Given the description of an element on the screen output the (x, y) to click on. 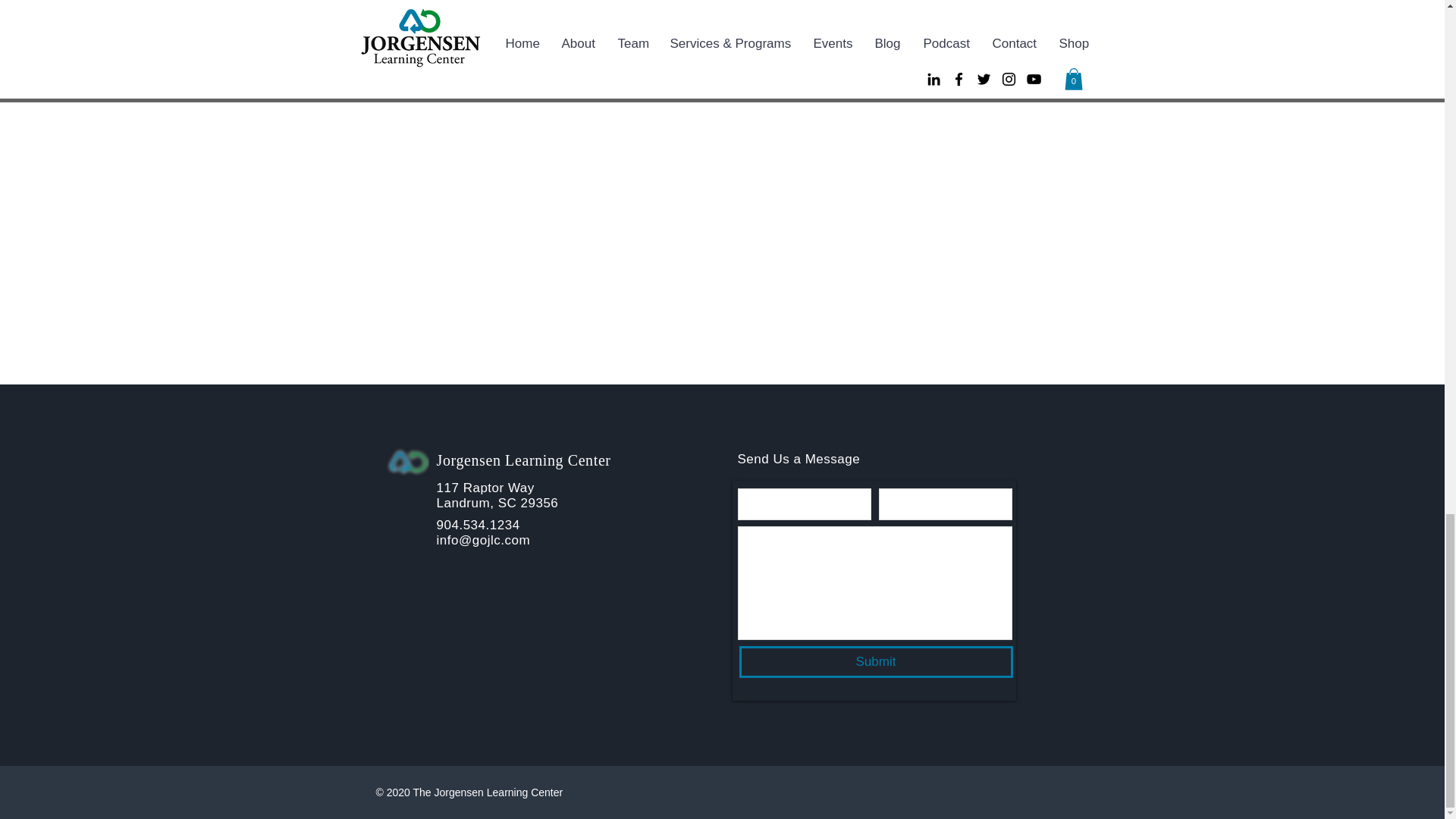
Submit (874, 662)
